Given the description of an element on the screen output the (x, y) to click on. 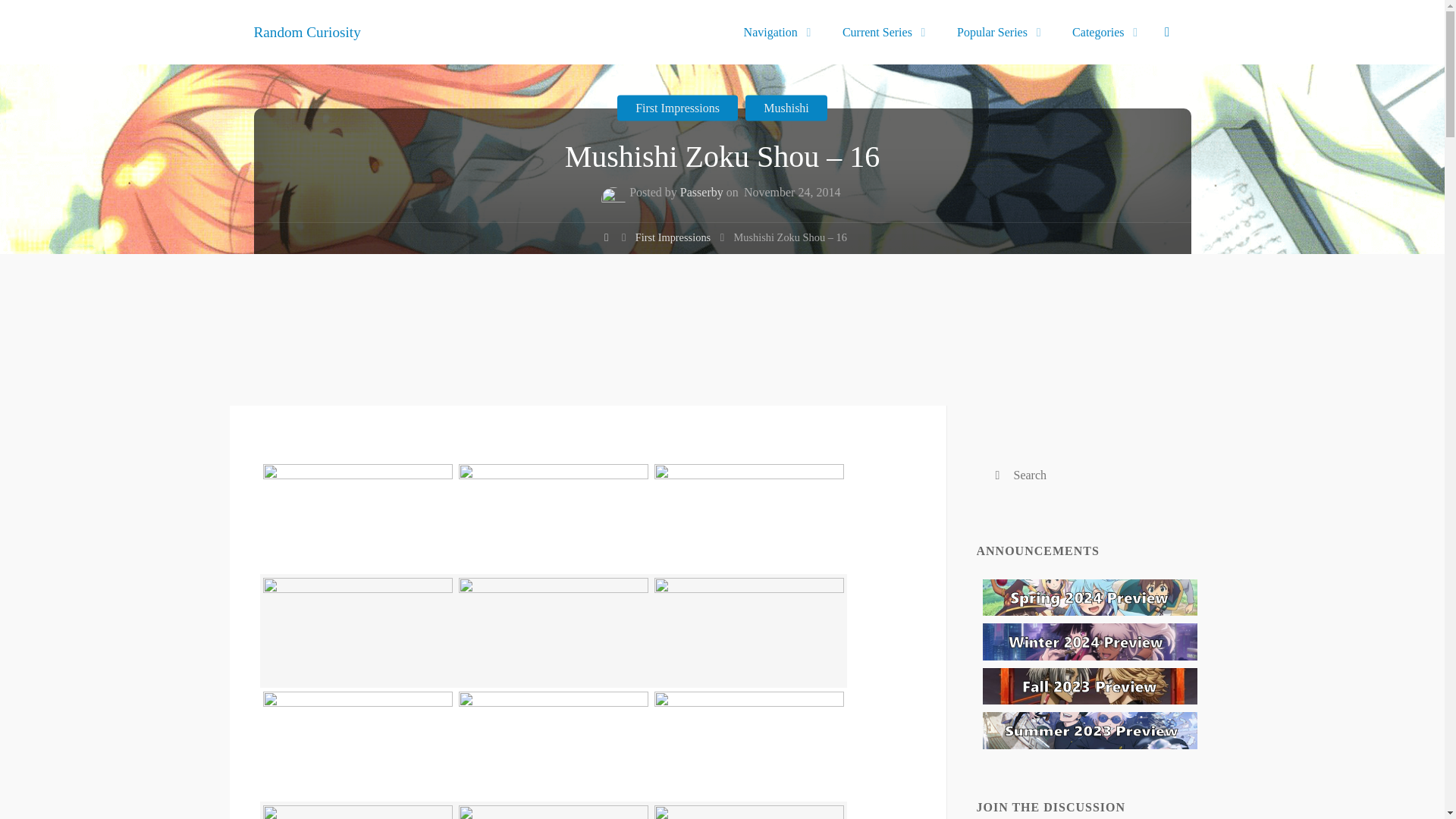
Home (605, 239)
Navigation (772, 32)
Random Curiosity (306, 31)
View all posts by Passerby (701, 194)
Daily Anime Goodness (306, 31)
Current Series (879, 32)
Advertisement (721, 364)
